Given the description of an element on the screen output the (x, y) to click on. 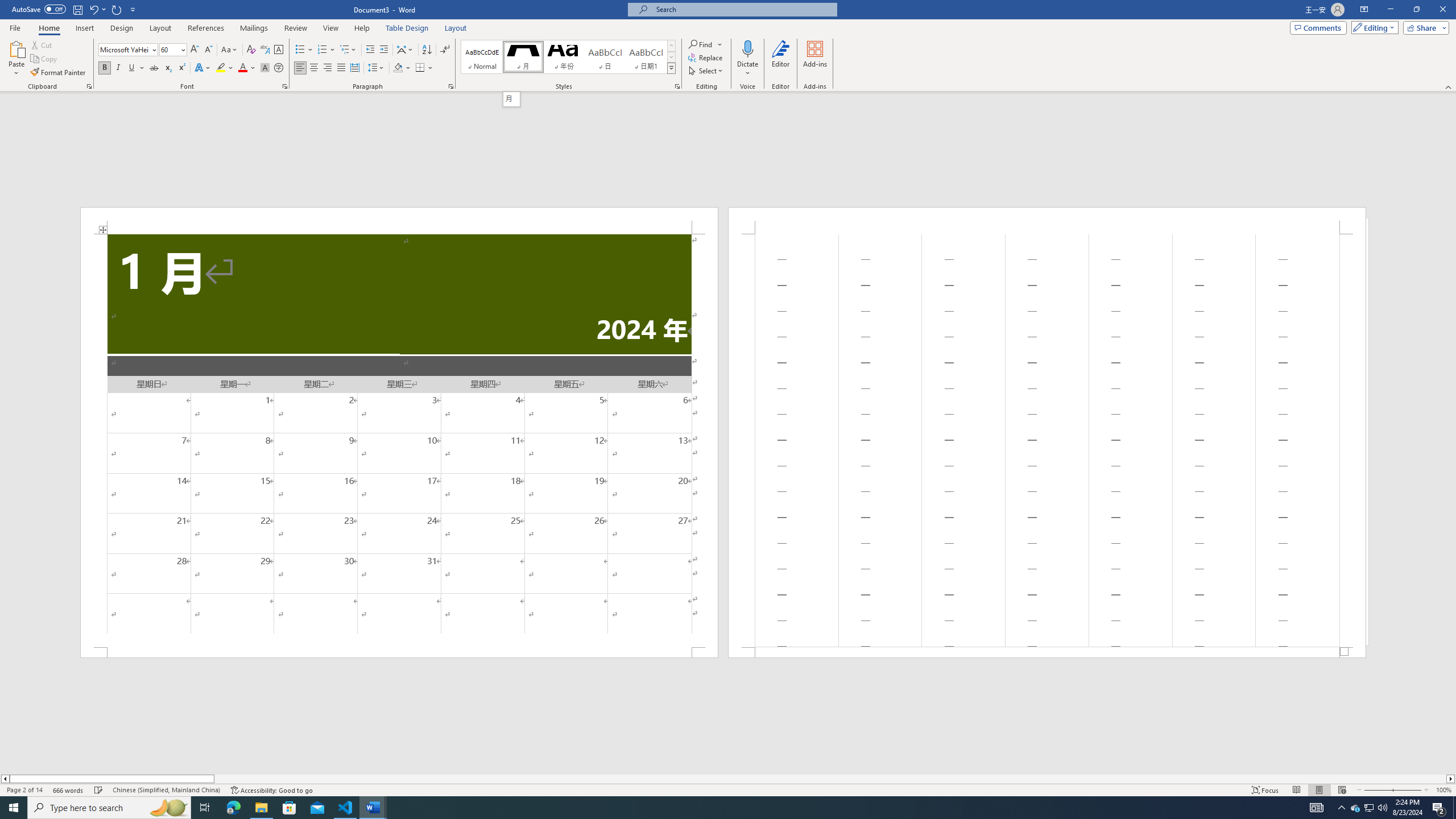
Column left (5, 778)
